Given the description of an element on the screen output the (x, y) to click on. 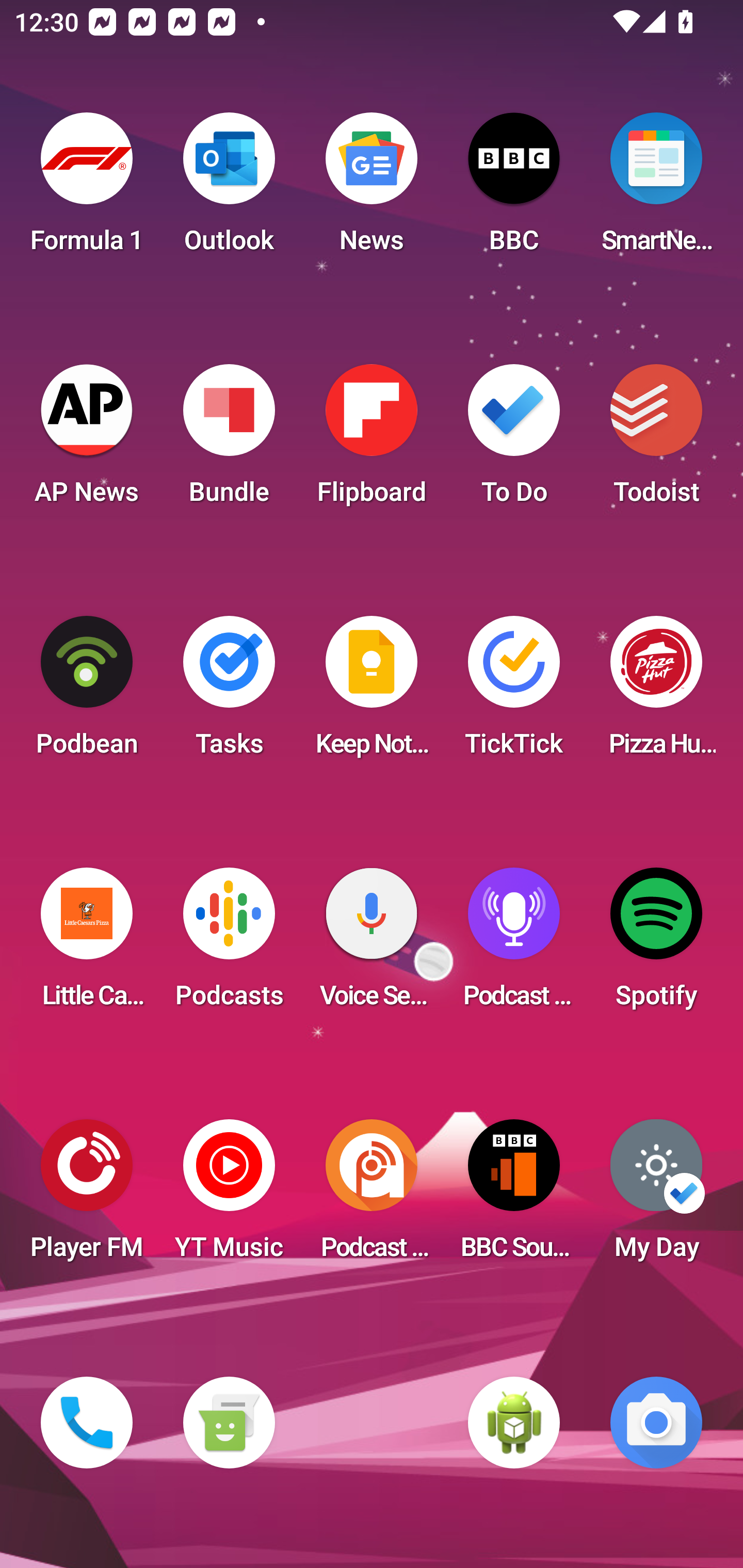
Formula 1 (86, 188)
Outlook (228, 188)
News (371, 188)
BBC (513, 188)
SmartNews (656, 188)
AP News (86, 440)
Bundle (228, 440)
Flipboard (371, 440)
To Do (513, 440)
Todoist (656, 440)
Podbean (86, 692)
Tasks (228, 692)
Keep Notes (371, 692)
TickTick (513, 692)
Pizza Hut HK & Macau (656, 692)
Little Caesars Pizza (86, 943)
Podcasts (228, 943)
Voice Search (371, 943)
Podcast Player (513, 943)
Spotify (656, 943)
Player FM (86, 1195)
YT Music (228, 1195)
Podcast Addict (371, 1195)
BBC Sounds (513, 1195)
My Day (656, 1195)
Phone (86, 1422)
Messaging (228, 1422)
WebView Browser Tester (513, 1422)
Camera (656, 1422)
